Given the description of an element on the screen output the (x, y) to click on. 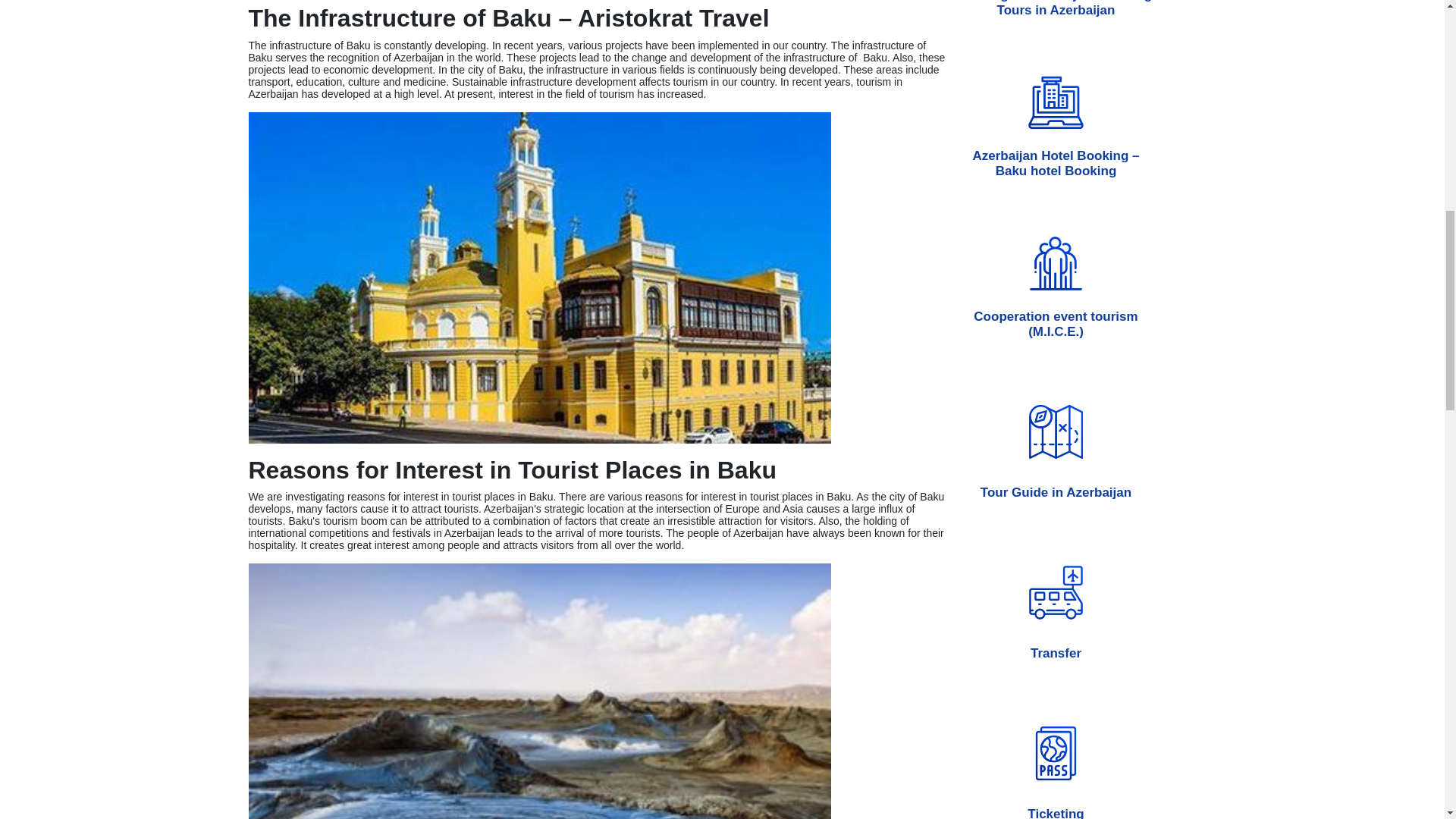
Hunting in Azerbaijan - Hunting Tours in Azerbaijan (1055, 18)
Transfer (1055, 599)
Ticketing (1055, 749)
Tour Guide in Azerbaijan (1055, 438)
